Given the description of an element on the screen output the (x, y) to click on. 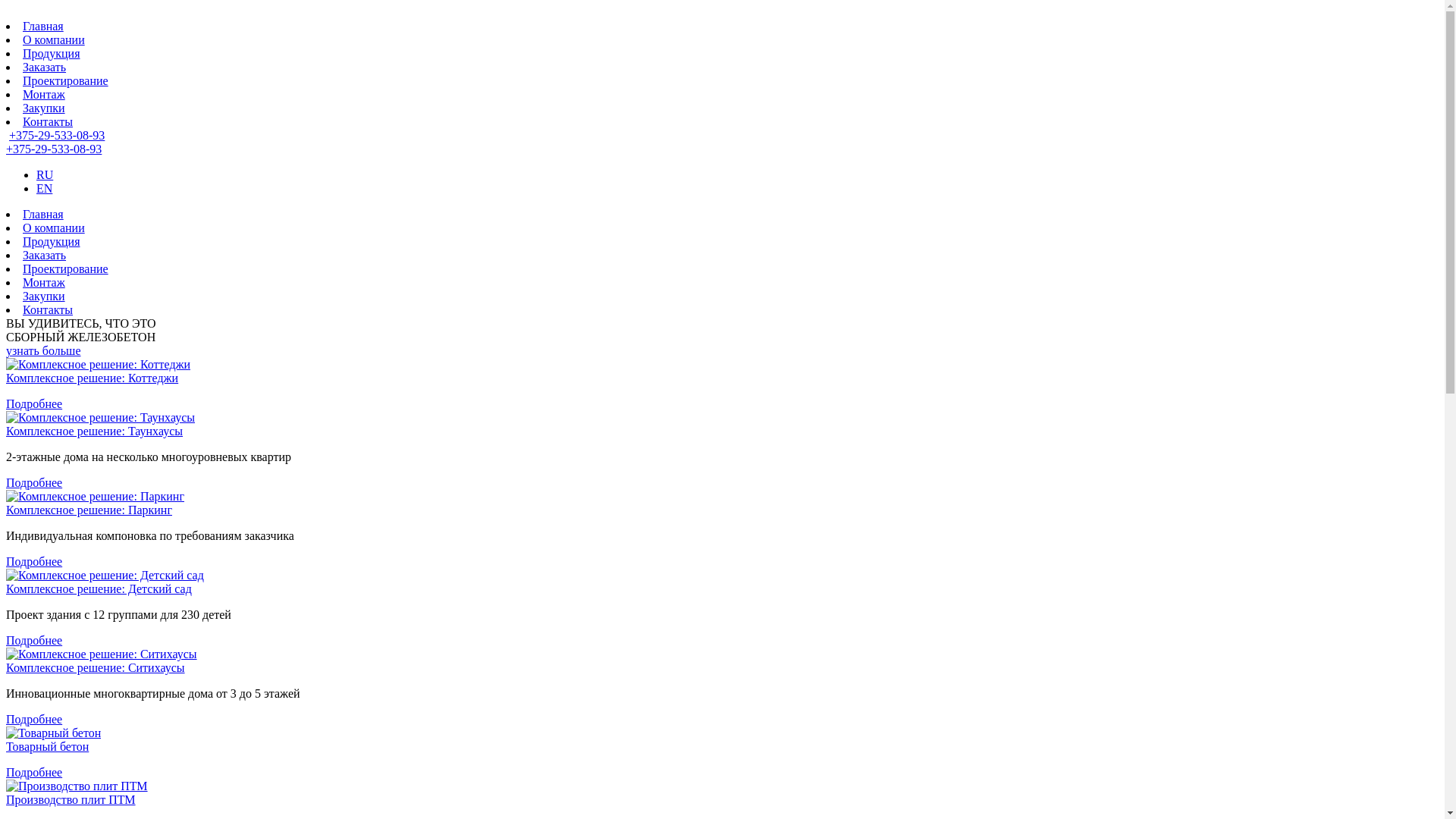
EN Element type: text (44, 188)
+375-29-533-08-93 Element type: text (53, 148)
RU Element type: text (44, 174)
+375-29-533-08-93 Element type: text (56, 134)
